Given the description of an element on the screen output the (x, y) to click on. 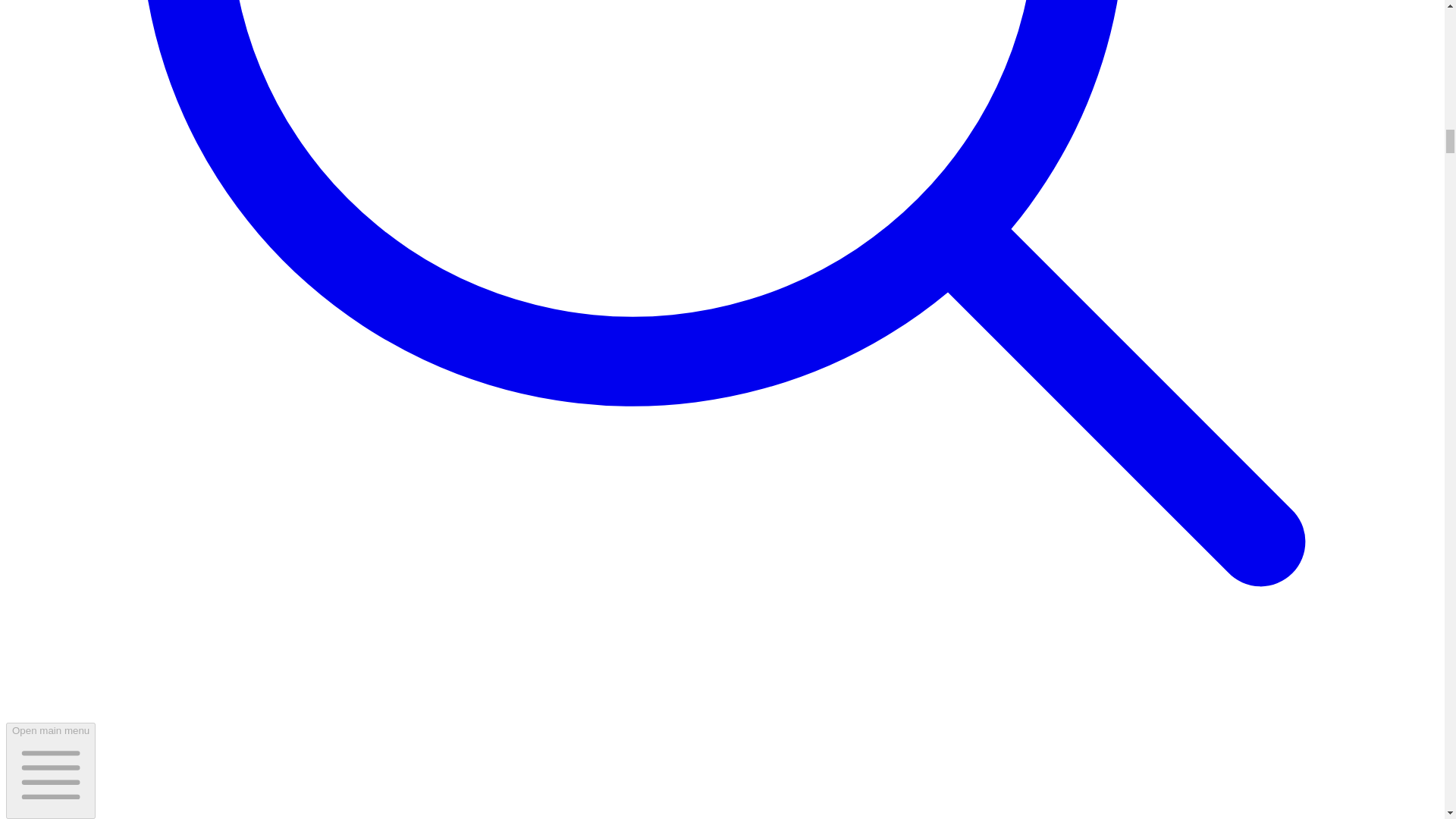
Open main menu (50, 770)
